Given the description of an element on the screen output the (x, y) to click on. 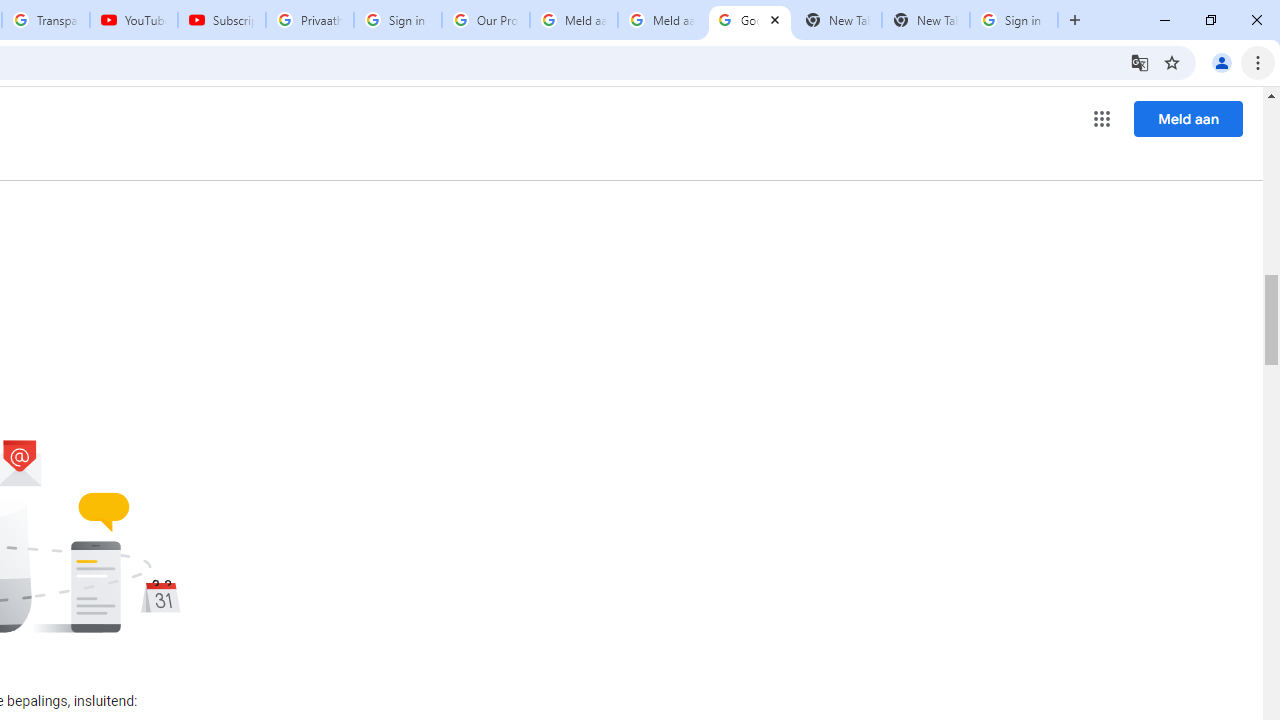
Sign in - Google Accounts (1014, 20)
Sign in - Google Accounts (397, 20)
dienste (306, 142)
